Given the description of an element on the screen output the (x, y) to click on. 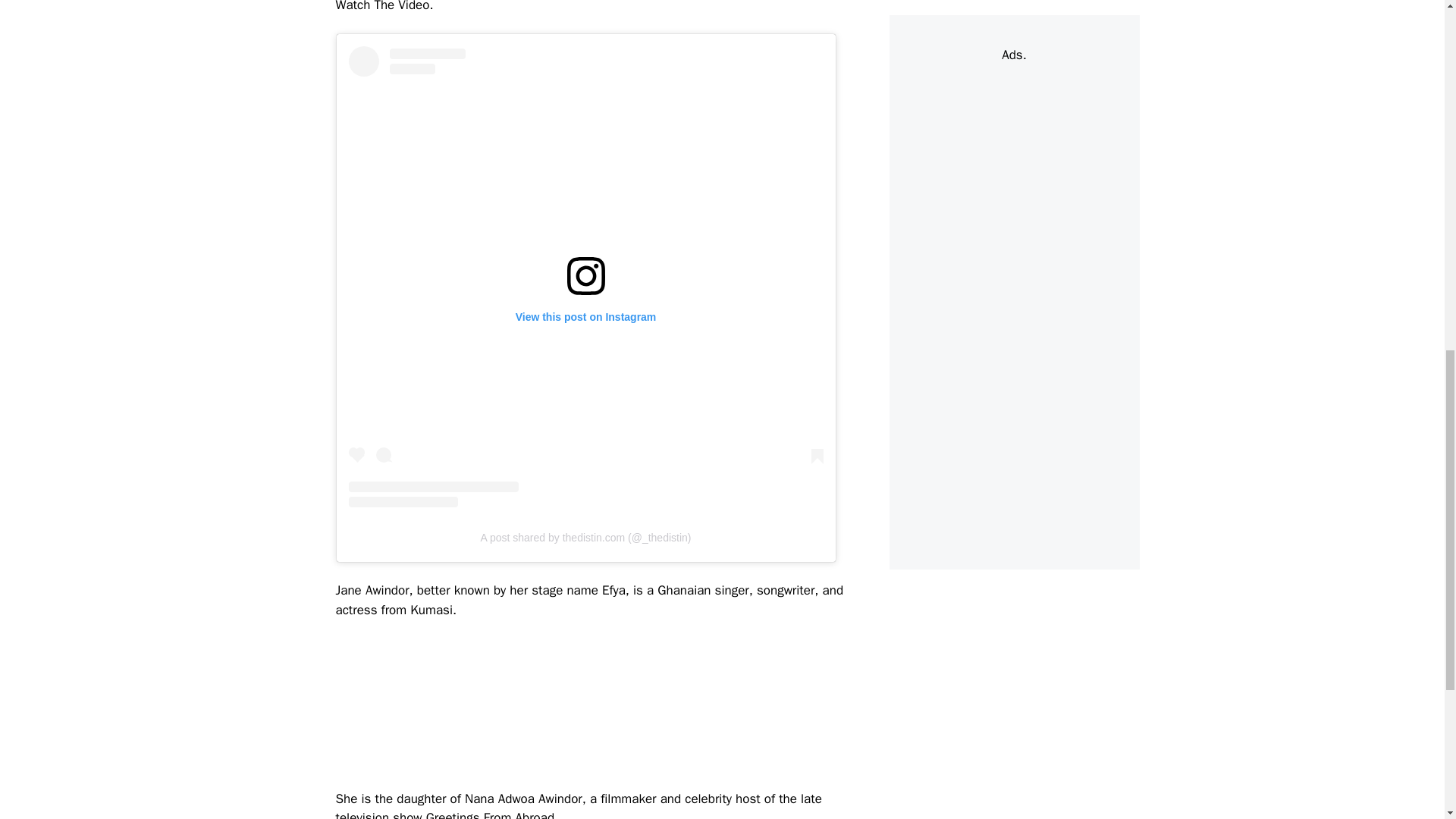
Advertisement (1032, 11)
Advertisement (611, 708)
